Given the description of an element on the screen output the (x, y) to click on. 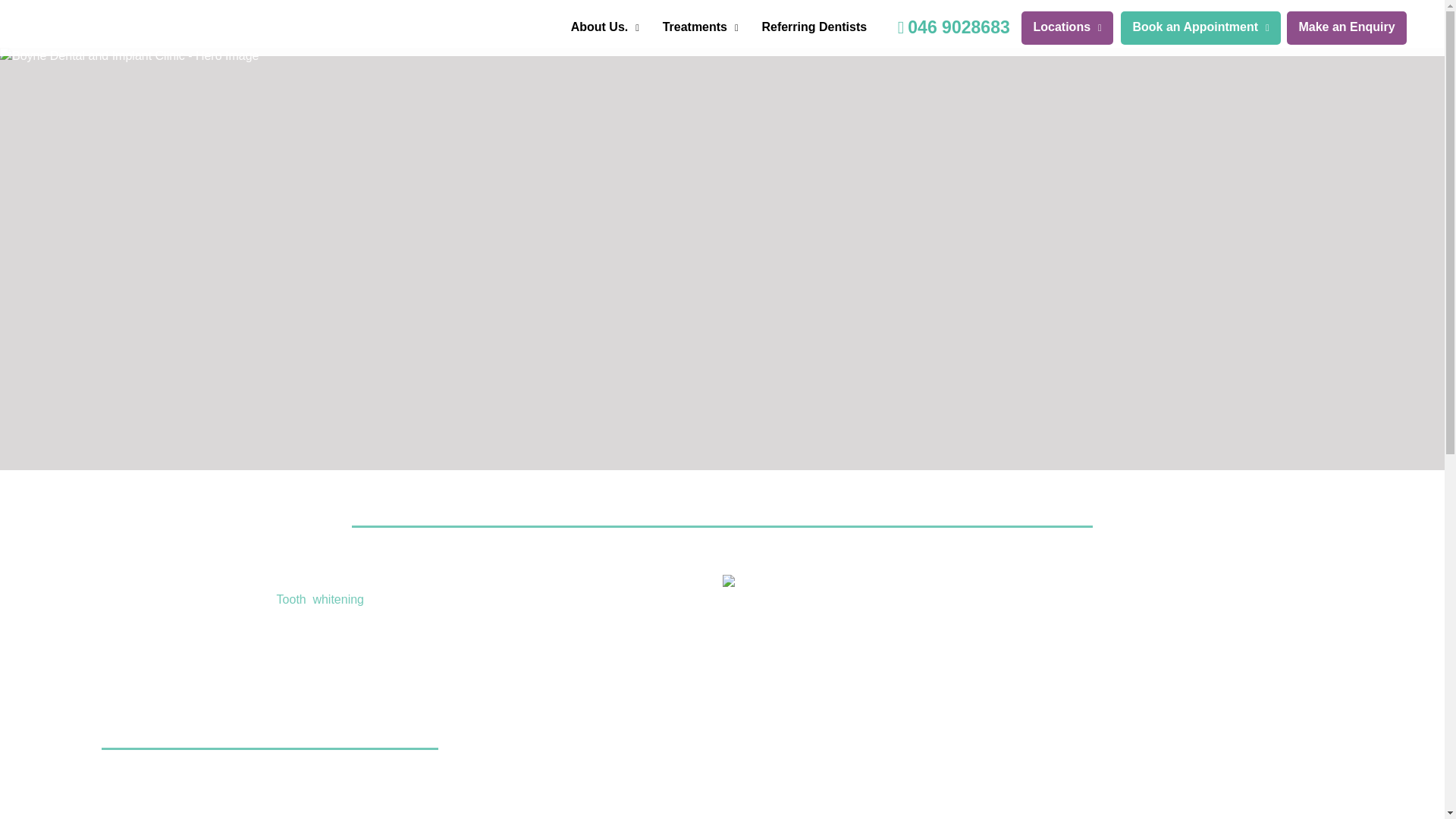
11 (108, 28)
Treatments (699, 27)
About Us. (604, 27)
